Given the description of an element on the screen output the (x, y) to click on. 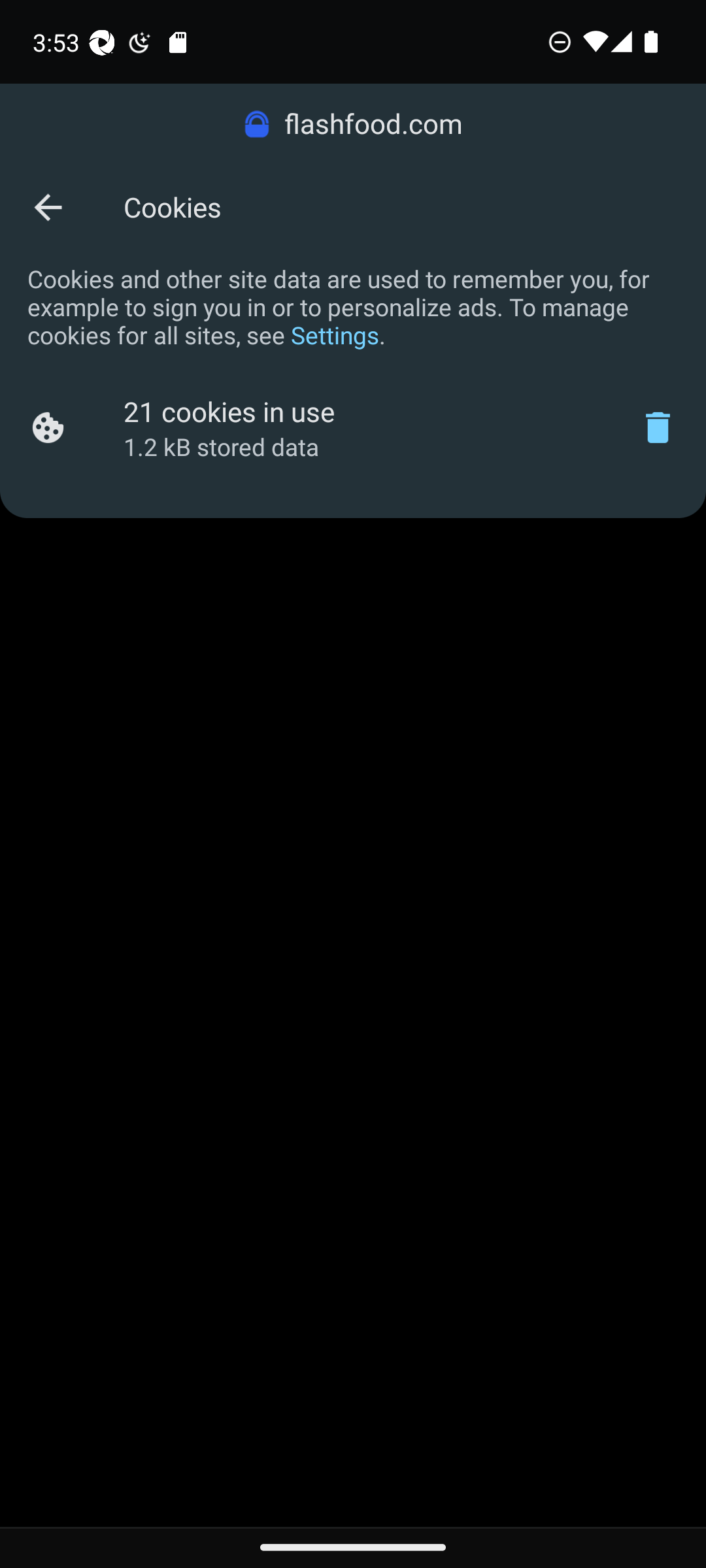
flashfood.com (353, 124)
Back (47, 206)
